Given the description of an element on the screen output the (x, y) to click on. 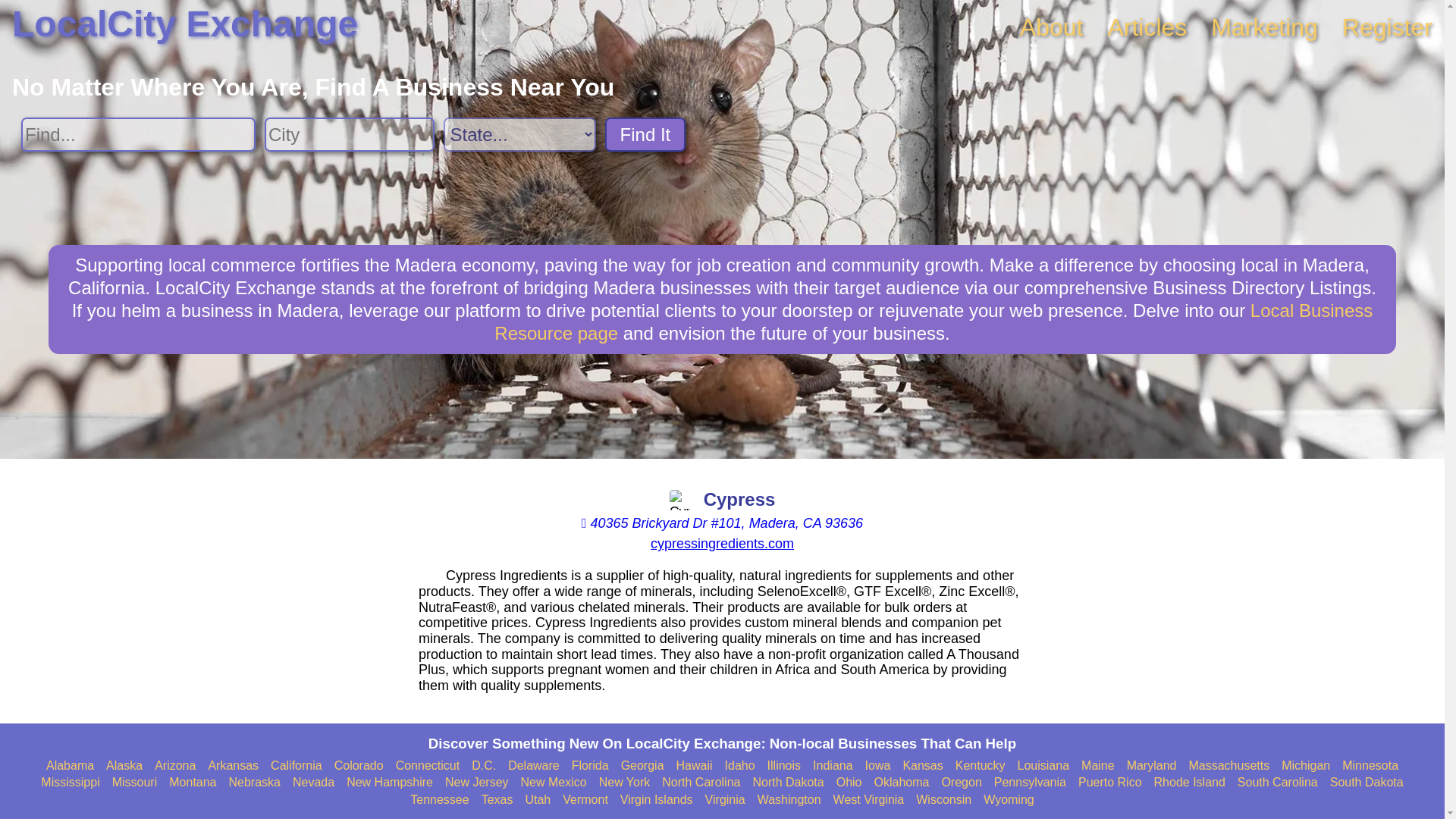
Indiana (832, 766)
Find Businesses in Arizona (174, 766)
About LocalCity Exchange (1051, 27)
Business Marketing Opportunites (1264, 27)
Hawaii (695, 766)
Delaware (533, 766)
Missouri (134, 782)
Idaho (740, 766)
Find Businesses in Arkansas (233, 766)
Iowa (877, 766)
Nevada (313, 782)
Local Business Resource page (934, 321)
Connecticut (428, 766)
Michigan (1305, 766)
Louisiana (1043, 766)
